Given the description of an element on the screen output the (x, y) to click on. 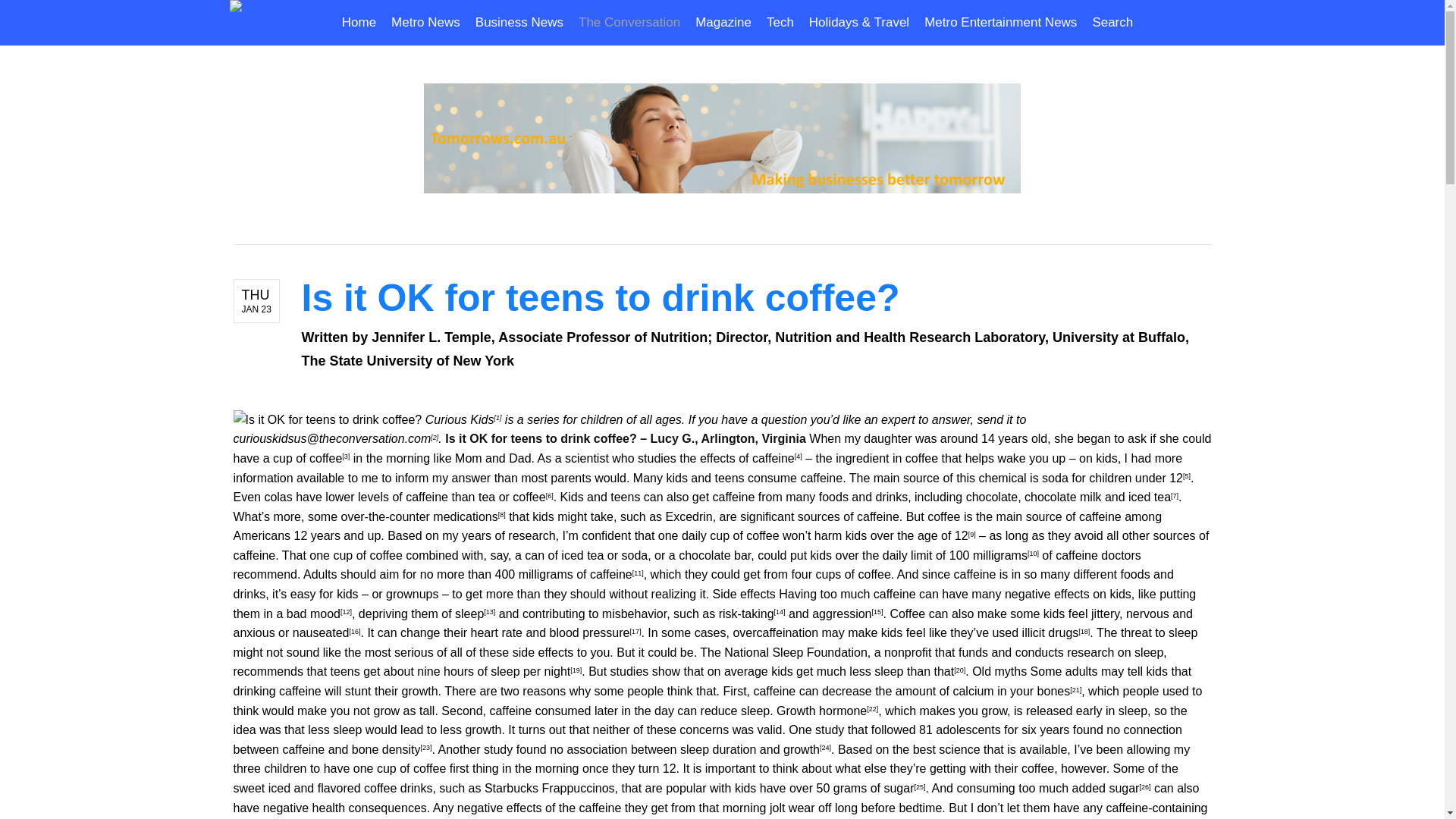
lower levels of caffeine than tea or coffee (434, 496)
Curious Kids (460, 419)
100 milligrams (988, 554)
Metro News (425, 22)
effects of caffeine (747, 458)
Search (1108, 22)
Home (363, 22)
Magazine (722, 22)
some over-the-counter medications (402, 516)
cup of coffee (307, 458)
